Given the description of an element on the screen output the (x, y) to click on. 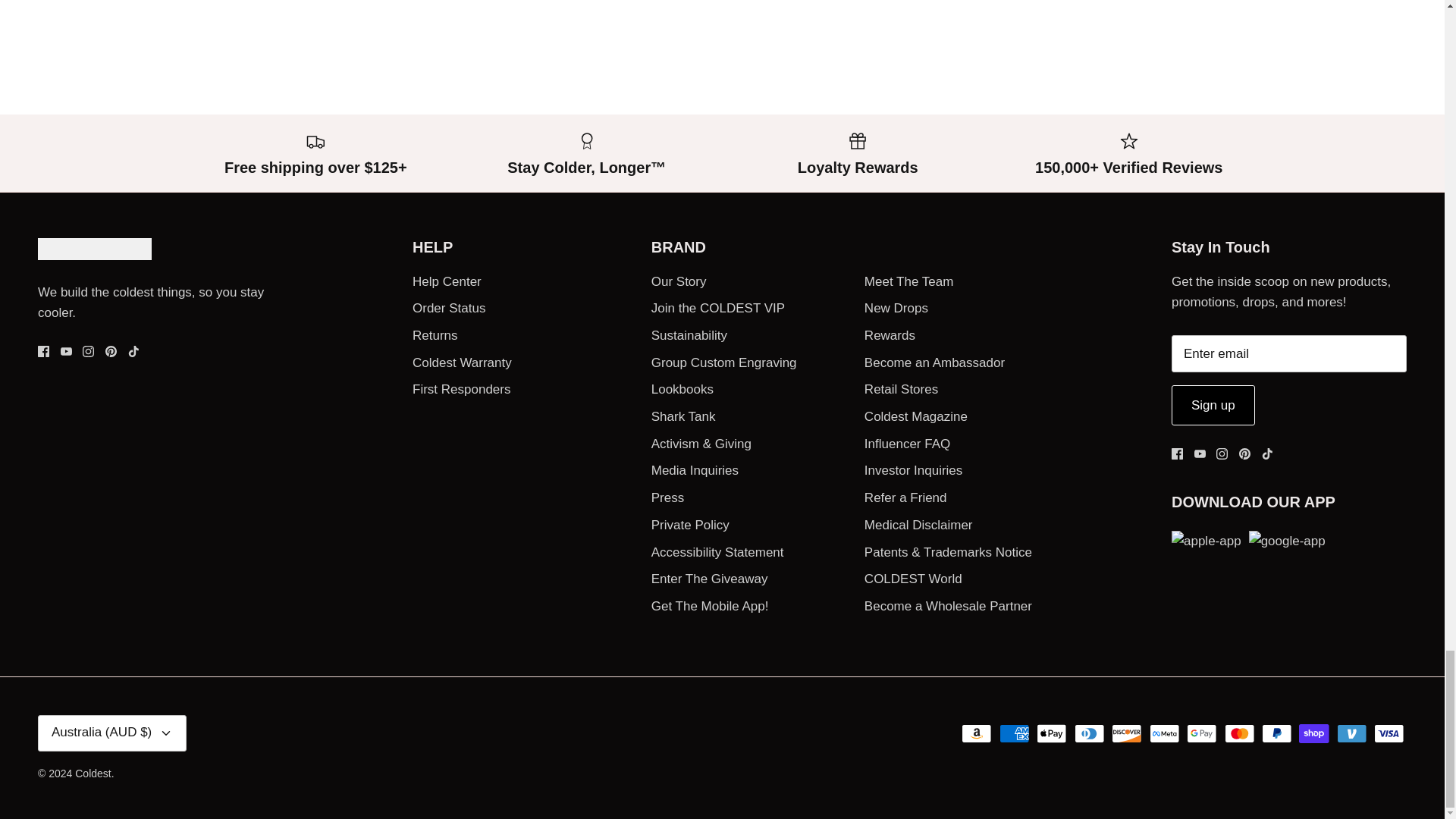
Instagram (1221, 453)
Youtube (1199, 453)
Instagram (88, 351)
Amazon (975, 732)
Facebook (43, 351)
Facebook (1177, 453)
Pinterest (110, 351)
Apple Pay (1051, 732)
American Express (1013, 732)
Youtube (66, 351)
Pinterest (1244, 453)
